Given the description of an element on the screen output the (x, y) to click on. 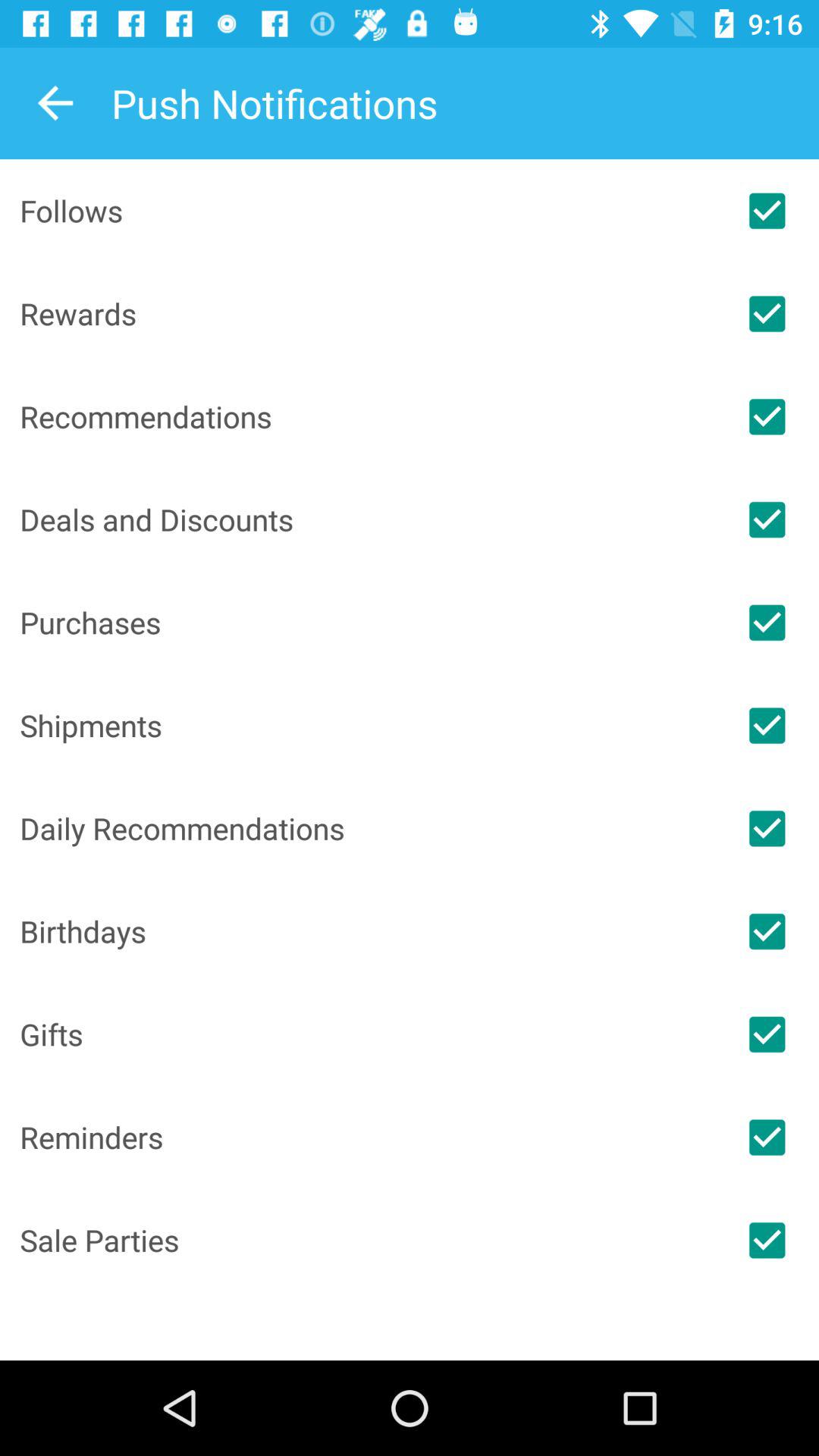
check off (767, 416)
